Given the description of an element on the screen output the (x, y) to click on. 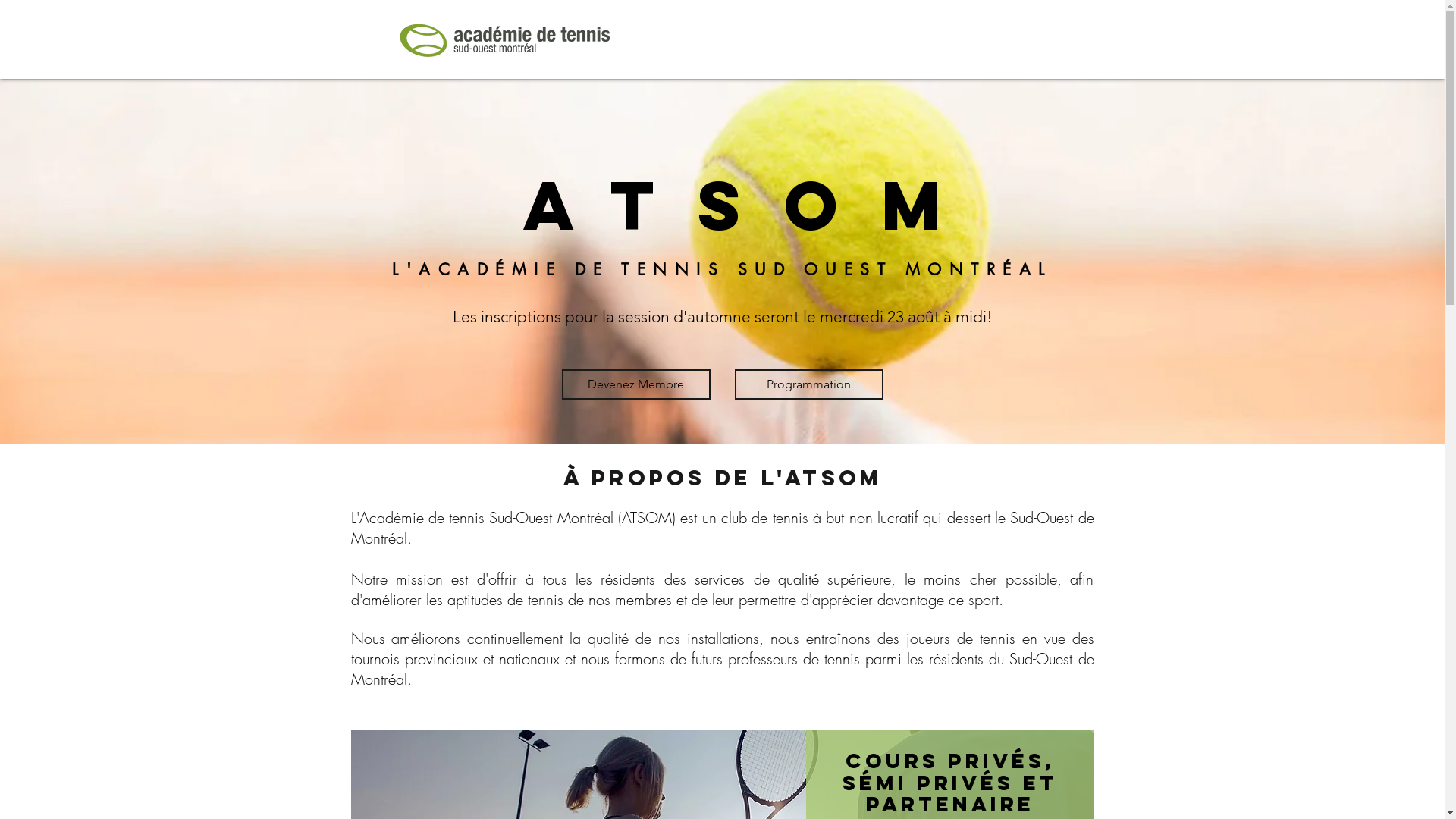
Programmation Element type: text (808, 384)
Devenez Membre Element type: text (635, 384)
